Given the description of an element on the screen output the (x, y) to click on. 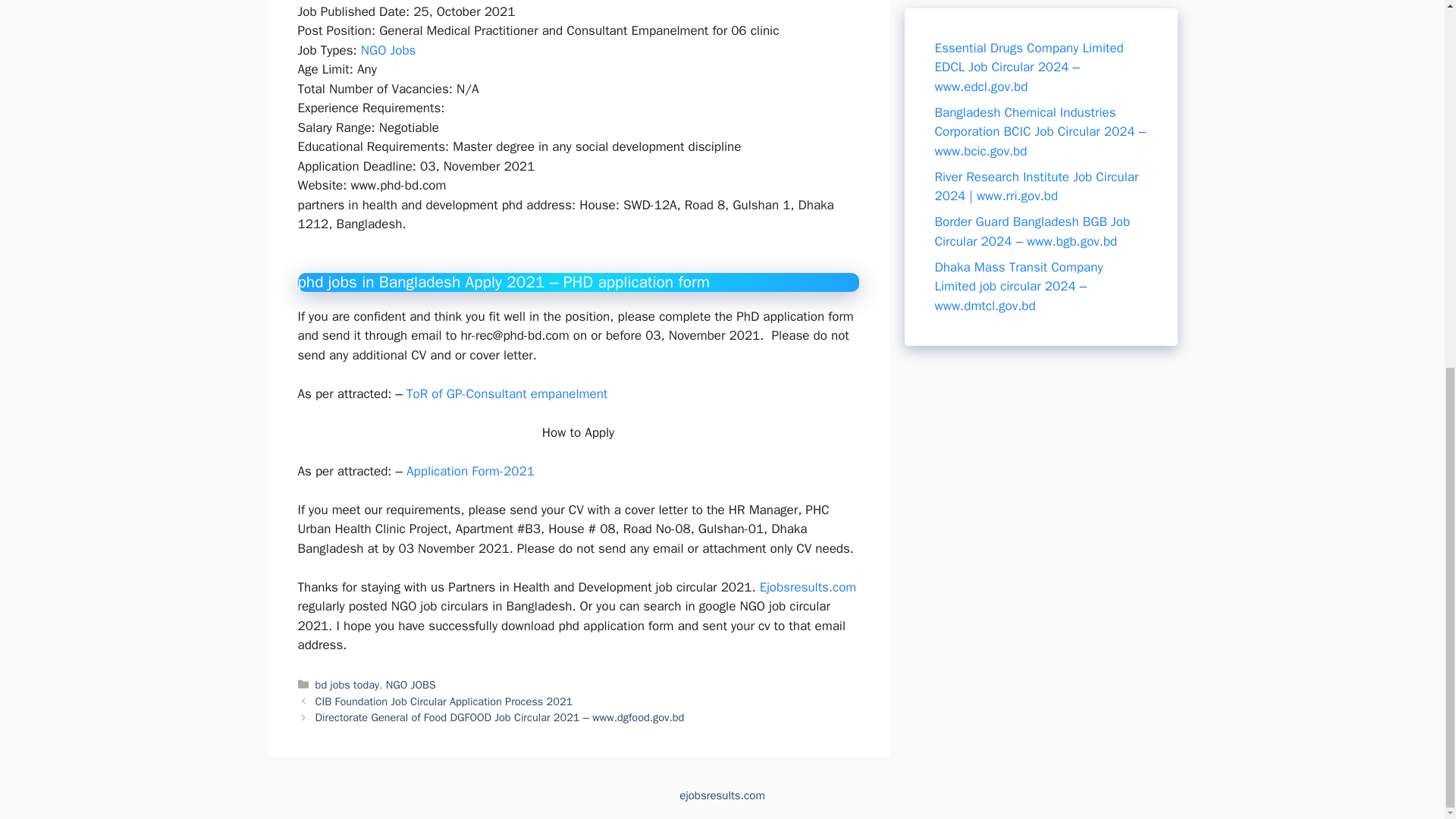
NGO Jobs (388, 50)
Application (436, 471)
 Form-2021 (500, 471)
bd jobs today (346, 684)
CIB Foundation Job Circular Application Process 2021 (444, 701)
NGO JOBS (410, 684)
ToR of GP-Consultant empanelment (506, 393)
Ejobsresults.com (808, 587)
